Given the description of an element on the screen output the (x, y) to click on. 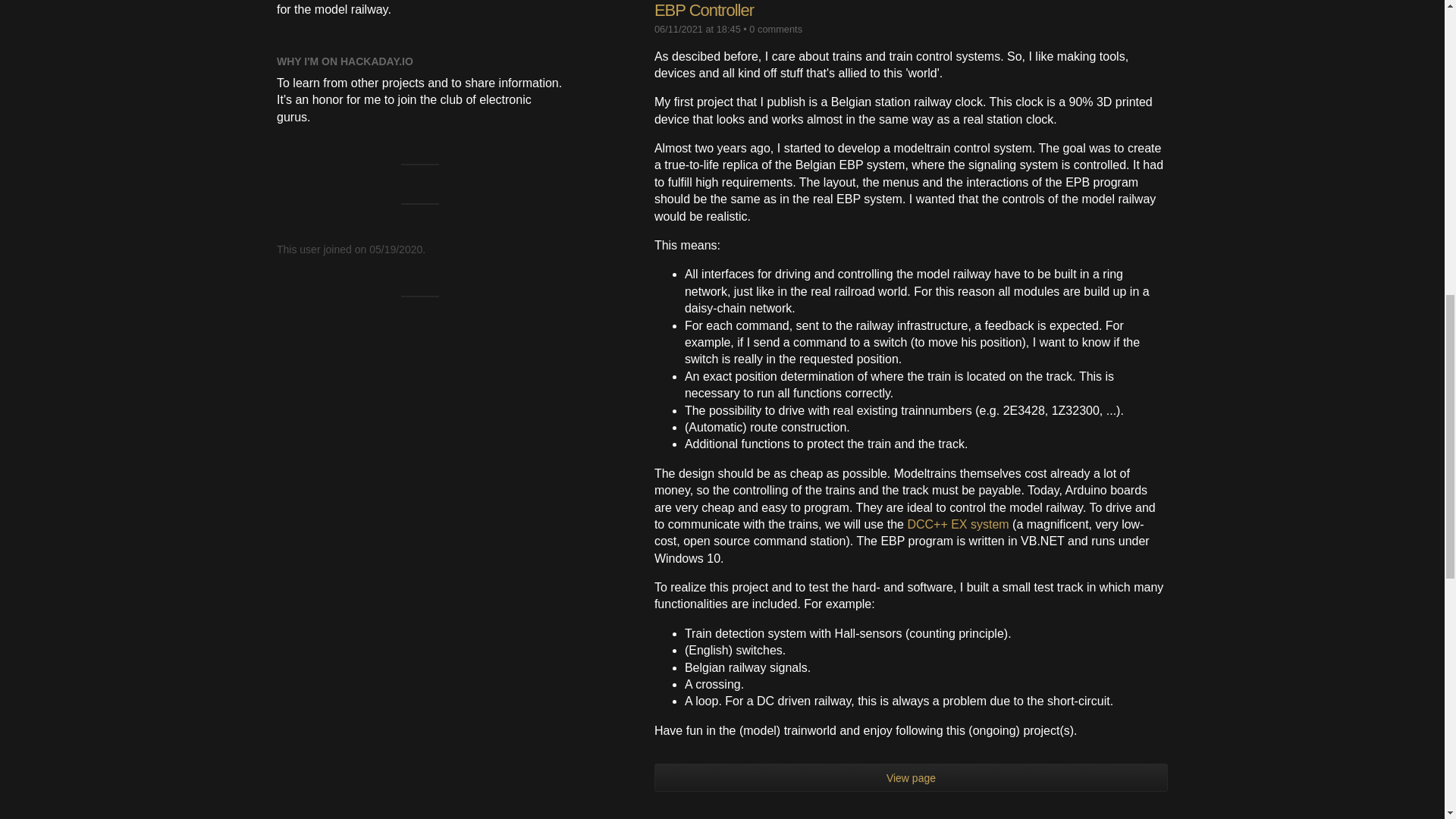
0 comments (775, 29)
View page (910, 777)
3 years ago (697, 29)
EBP Controller (703, 9)
